Given the description of an element on the screen output the (x, y) to click on. 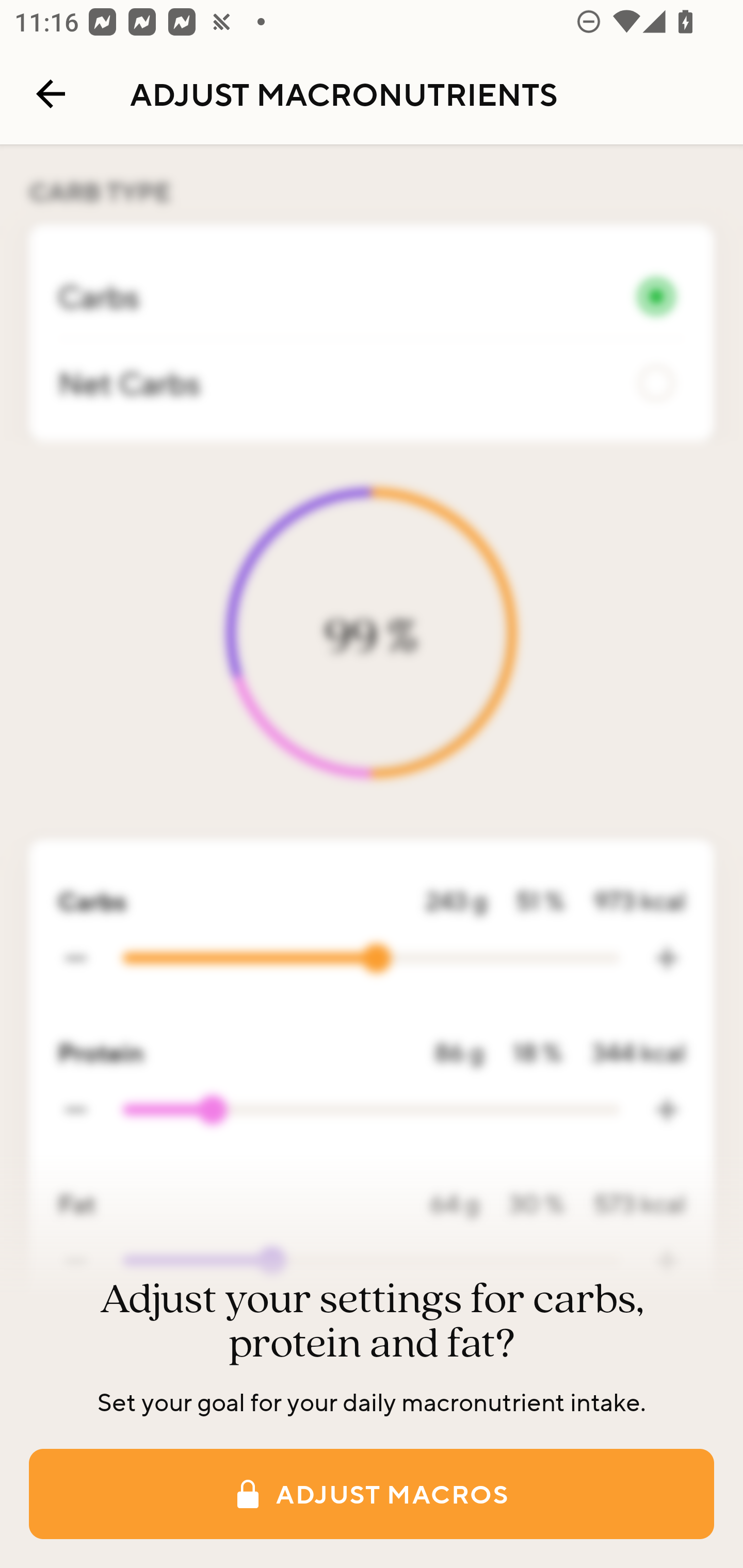
Navigate up (50, 93)
ADJUST MACROS (371, 1493)
